Given the description of an element on the screen output the (x, y) to click on. 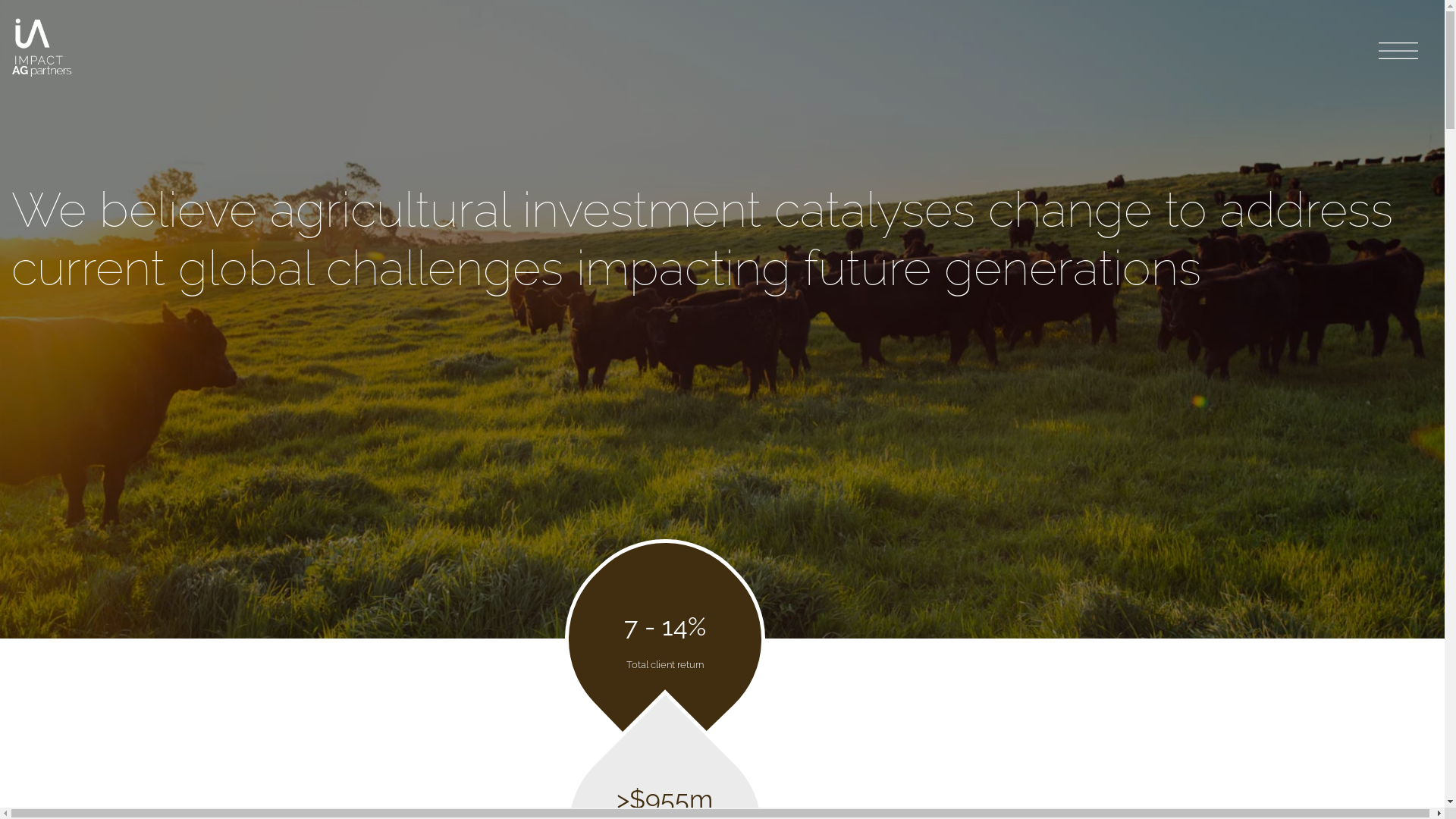
7 - 14%
Total client return Element type: text (664, 635)
